Given the description of an element on the screen output the (x, y) to click on. 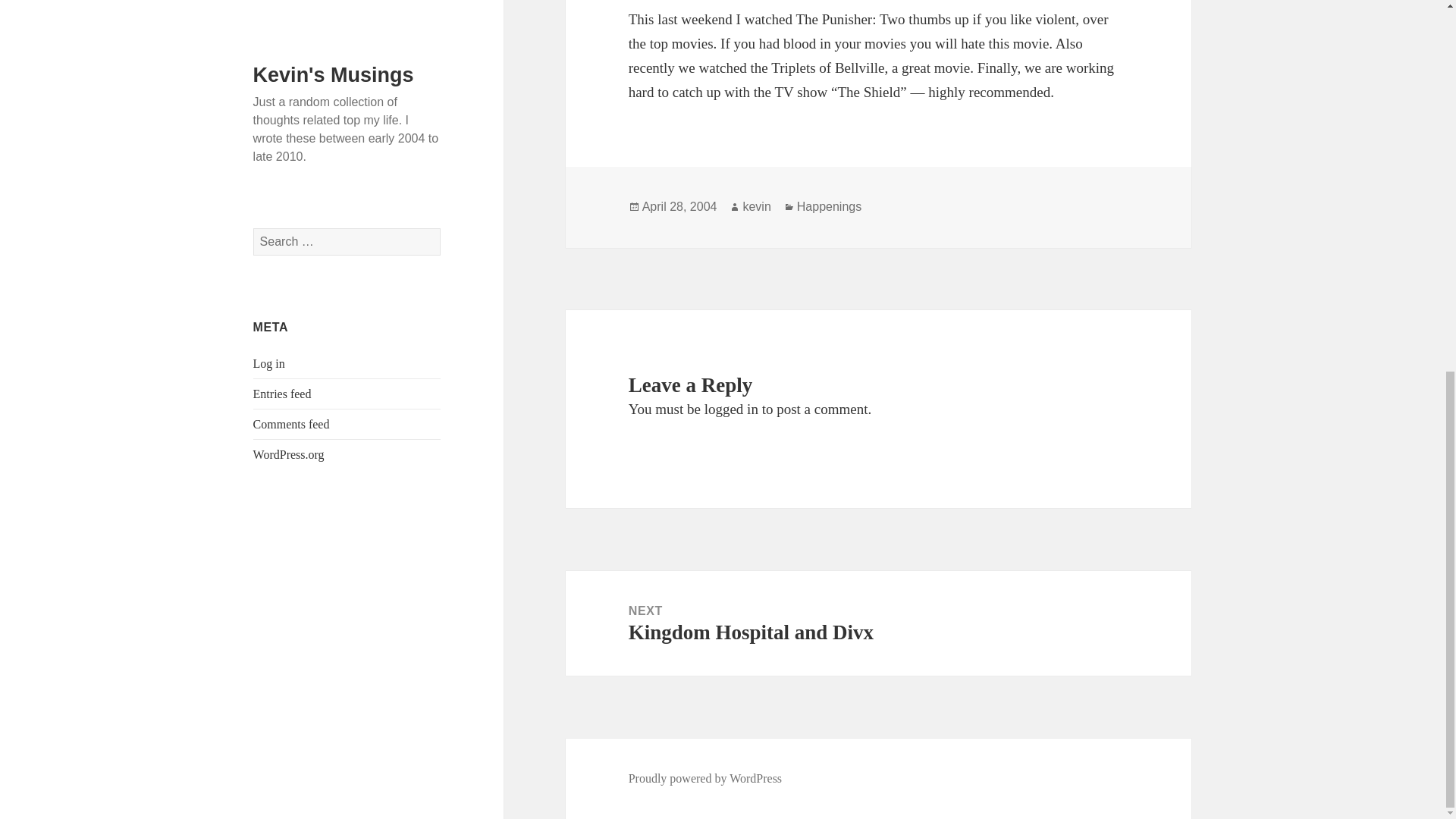
April 28, 2004 (679, 206)
logged in (731, 408)
Happenings (828, 206)
Proudly powered by WordPress (878, 623)
kevin (704, 778)
